Given the description of an element on the screen output the (x, y) to click on. 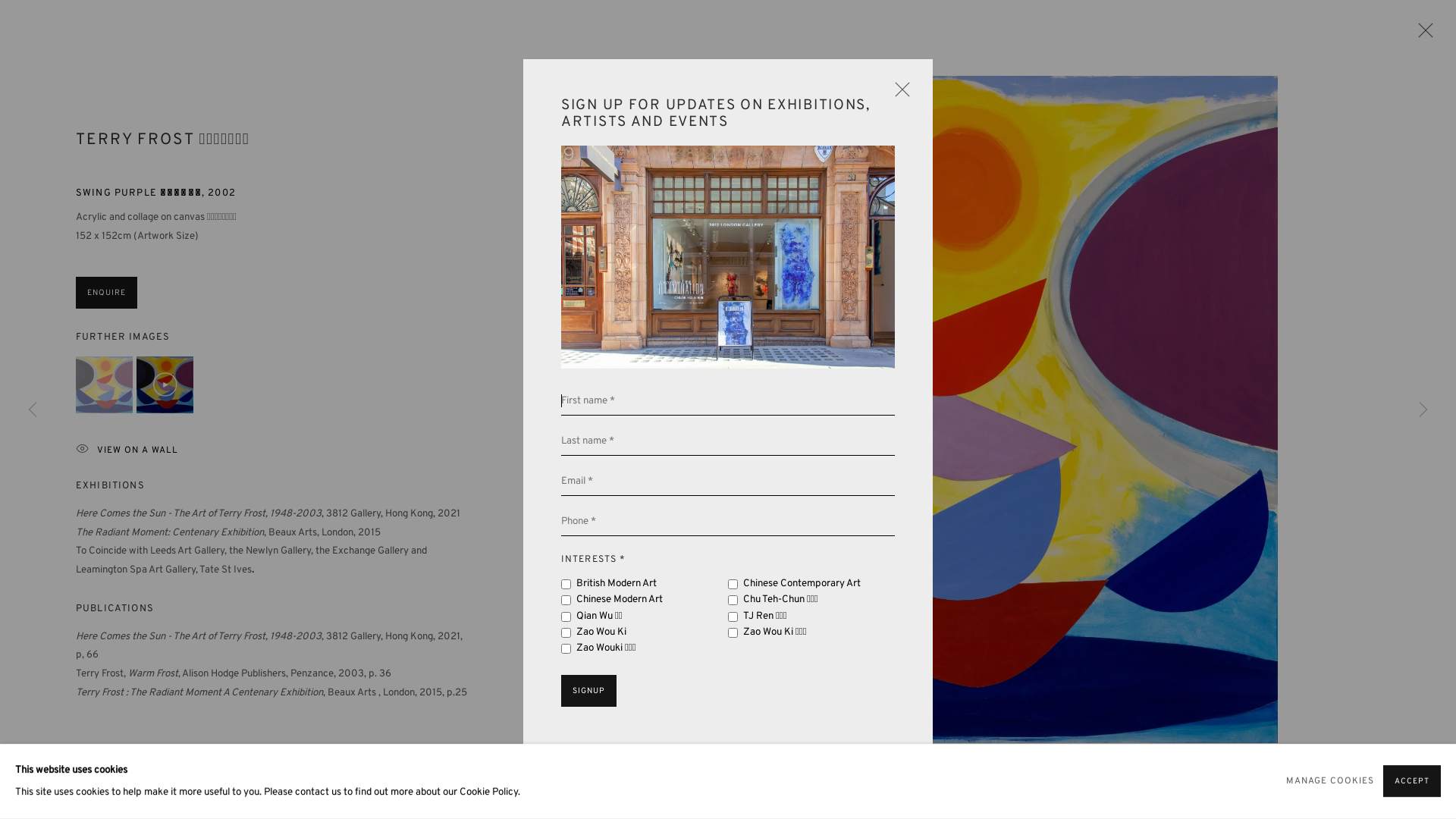
MANAGE COOKIES Element type: text (197, 693)
london@3812cap.com Element type: text (520, 547)
Open a larger version of the following image in a popup: Element type: text (945, 409)
hongkong@3812cap.com Element type: text (214, 547)
LinkedIn
, opens in a new tab. Element type: text (1188, 455)
SIGNUP Element type: text (588, 690)
ENQUIRE Element type: text (106, 292)
Close Element type: text (898, 92)
Send an email Element type: text (1284, 455)
Close Element type: text (1421, 33)
MANAGE COOKIES Element type: text (1330, 781)
WeChat
, opens in a new tab. Element type: text (1220, 455)
VIEW ON A WALL Element type: text (266, 449)
Join the mailing list Element type: text (1252, 455)
ACCEPT Element type: text (1411, 781)
HONG KONG Element type: text (189, 261)
Instagram
, opens in a new tab. Element type: text (1157, 455)
Facebook
, opens in a new tab. Element type: text (1125, 455)
Previous Element type: text (32, 409)
SITE BY ARTLOGIC Element type: text (343, 714)
